Given the description of an element on the screen output the (x, y) to click on. 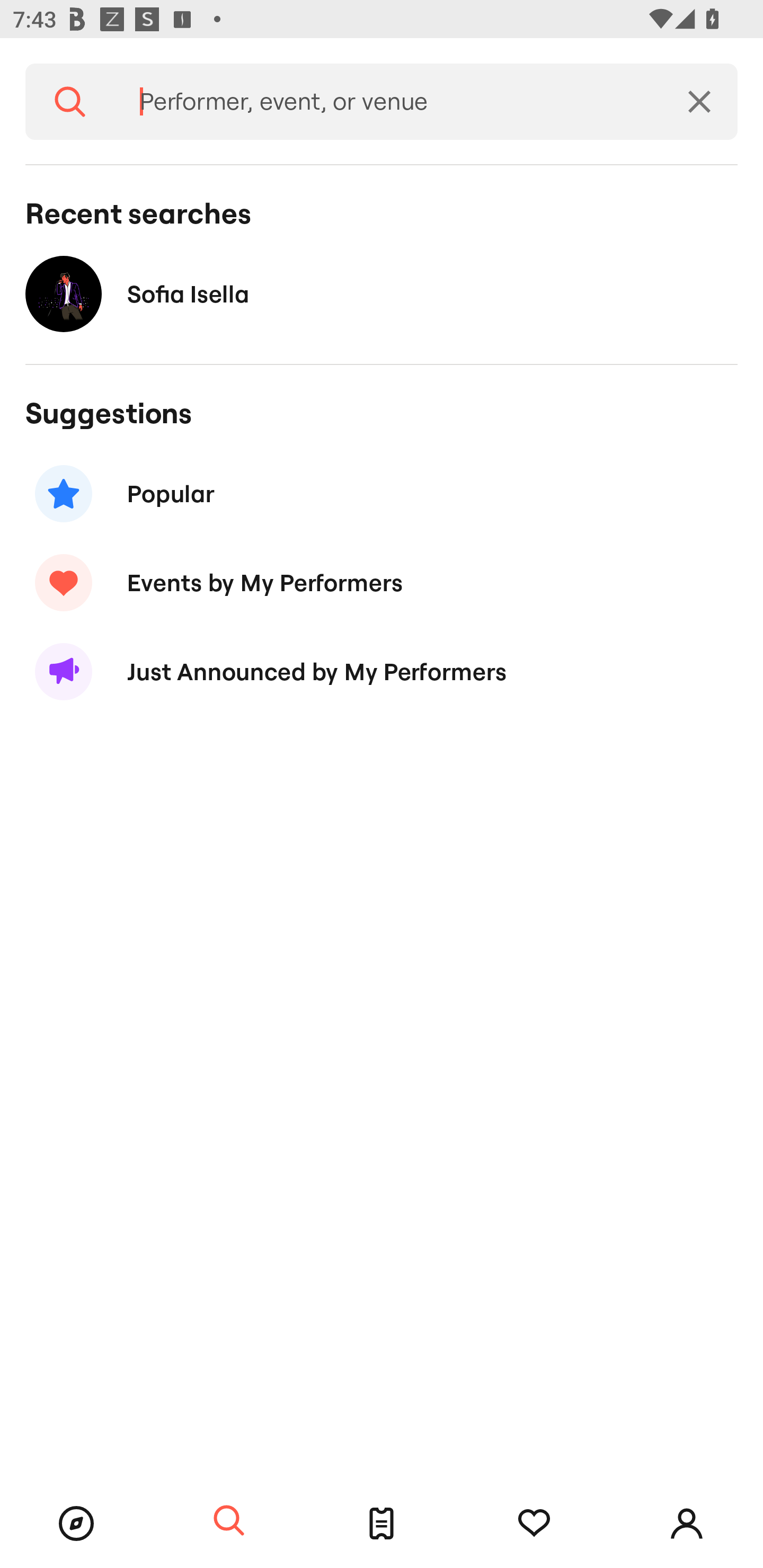
Search (69, 101)
Performer, event, or venue (387, 101)
Clear (699, 101)
Sofia Isella (381, 293)
Popular (381, 492)
Events by My Performers (381, 582)
Just Announced by My Performers (381, 671)
Browse (76, 1523)
Search (228, 1521)
Tickets (381, 1523)
Tracking (533, 1523)
Account (686, 1523)
